Given the description of an element on the screen output the (x, y) to click on. 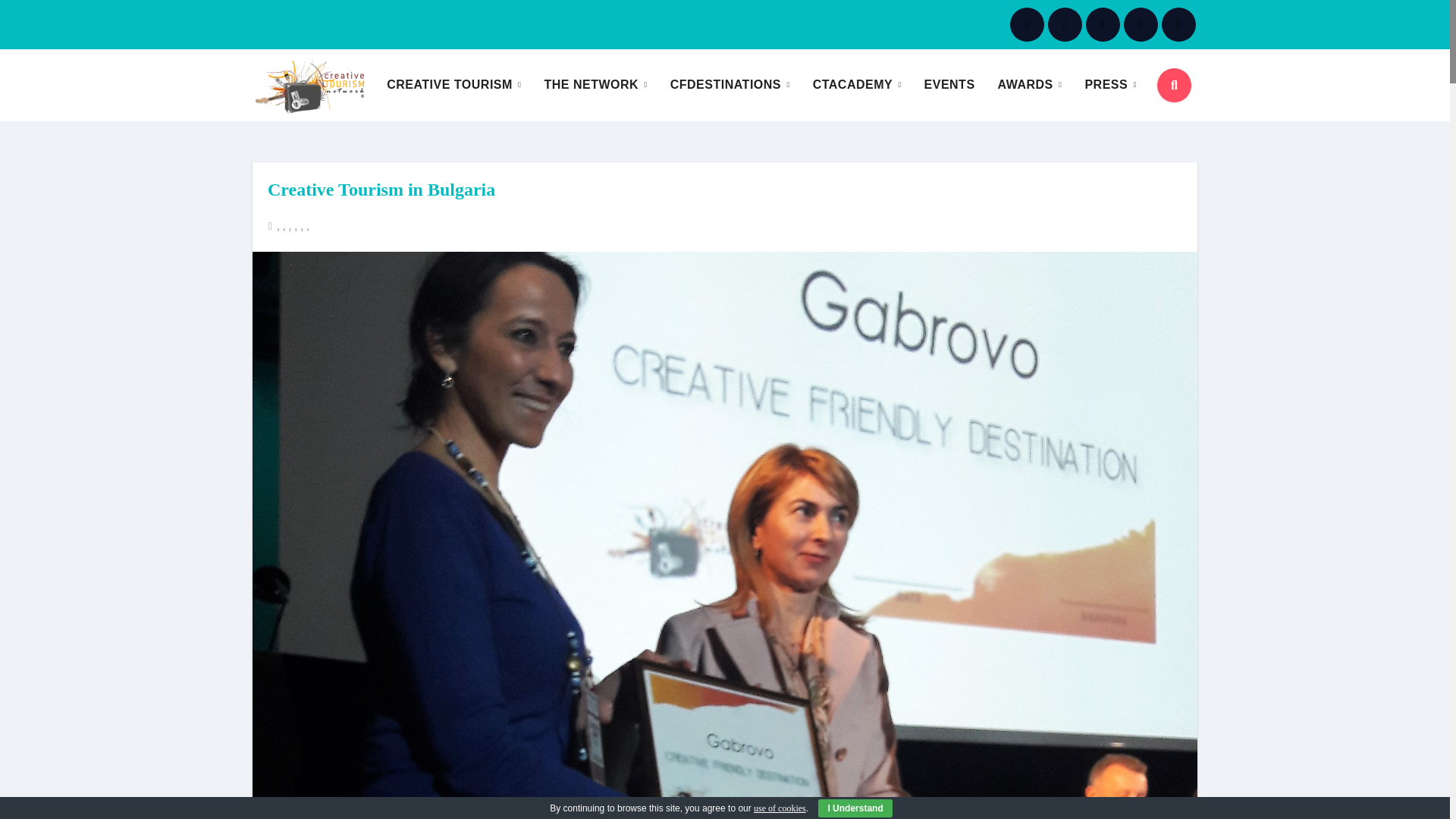
EVENTS (949, 84)
CREATIVE TOURISM (453, 84)
AWARDS (1030, 84)
CFDESTINATIONS (730, 84)
THE NETWORK (595, 84)
CREATIVE TOURISM (453, 84)
CFDESTINATIONS (730, 84)
PRESS (1110, 84)
THE NETWORK (595, 84)
CTACADEMY (857, 84)
